Given the description of an element on the screen output the (x, y) to click on. 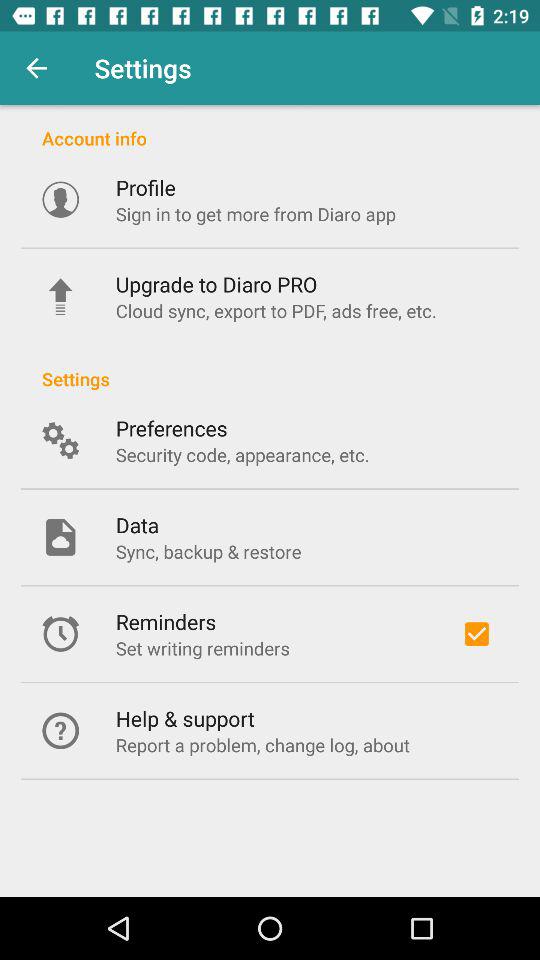
choose the icon above profile (270, 127)
